Given the description of an element on the screen output the (x, y) to click on. 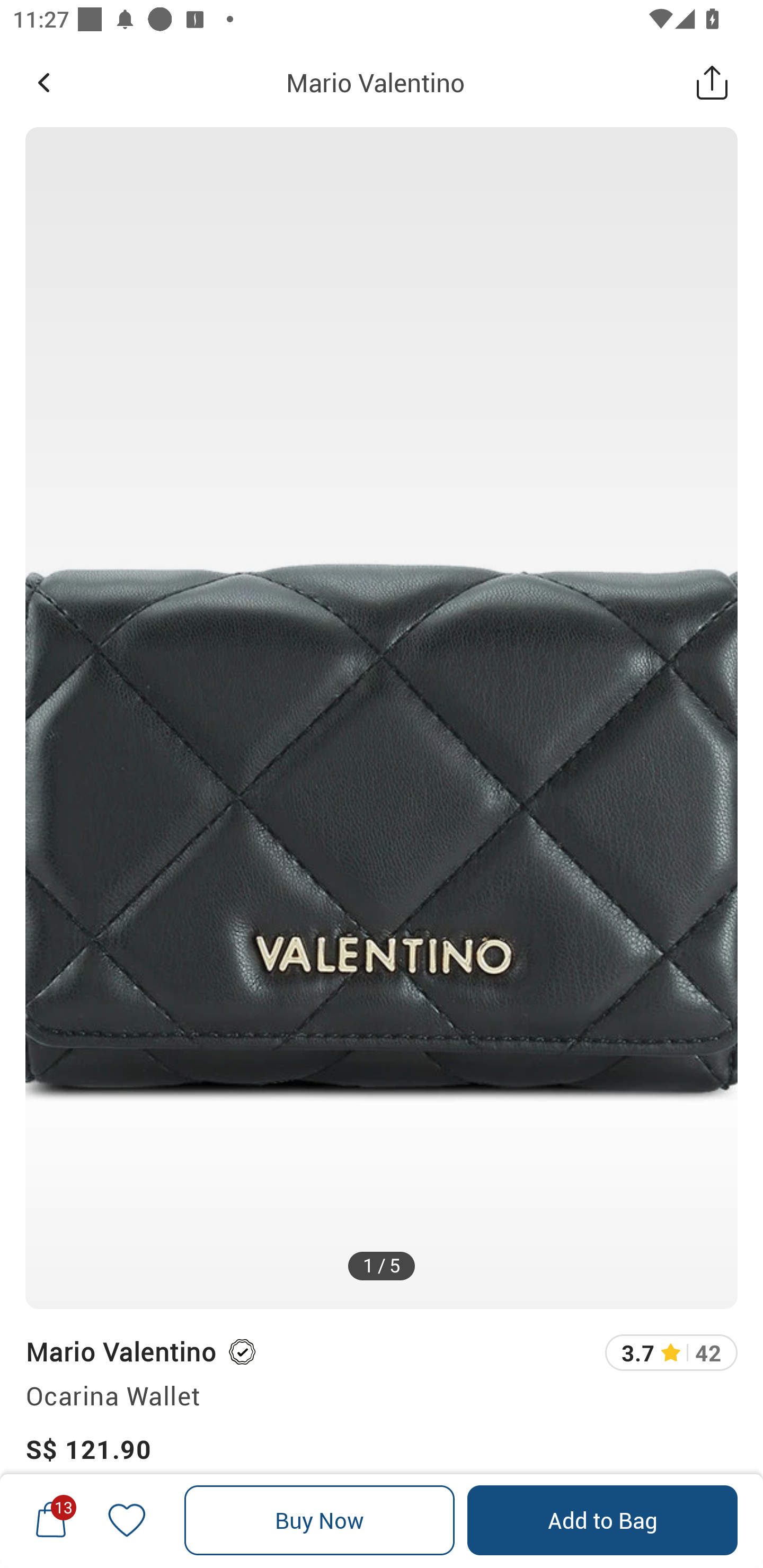
Mario Valentino (375, 82)
Share this Product (711, 82)
Mario Valentino (120, 1351)
3.7 42 (671, 1352)
Buy Now (319, 1519)
Add to Bag (601, 1519)
13 (50, 1520)
